Given the description of an element on the screen output the (x, y) to click on. 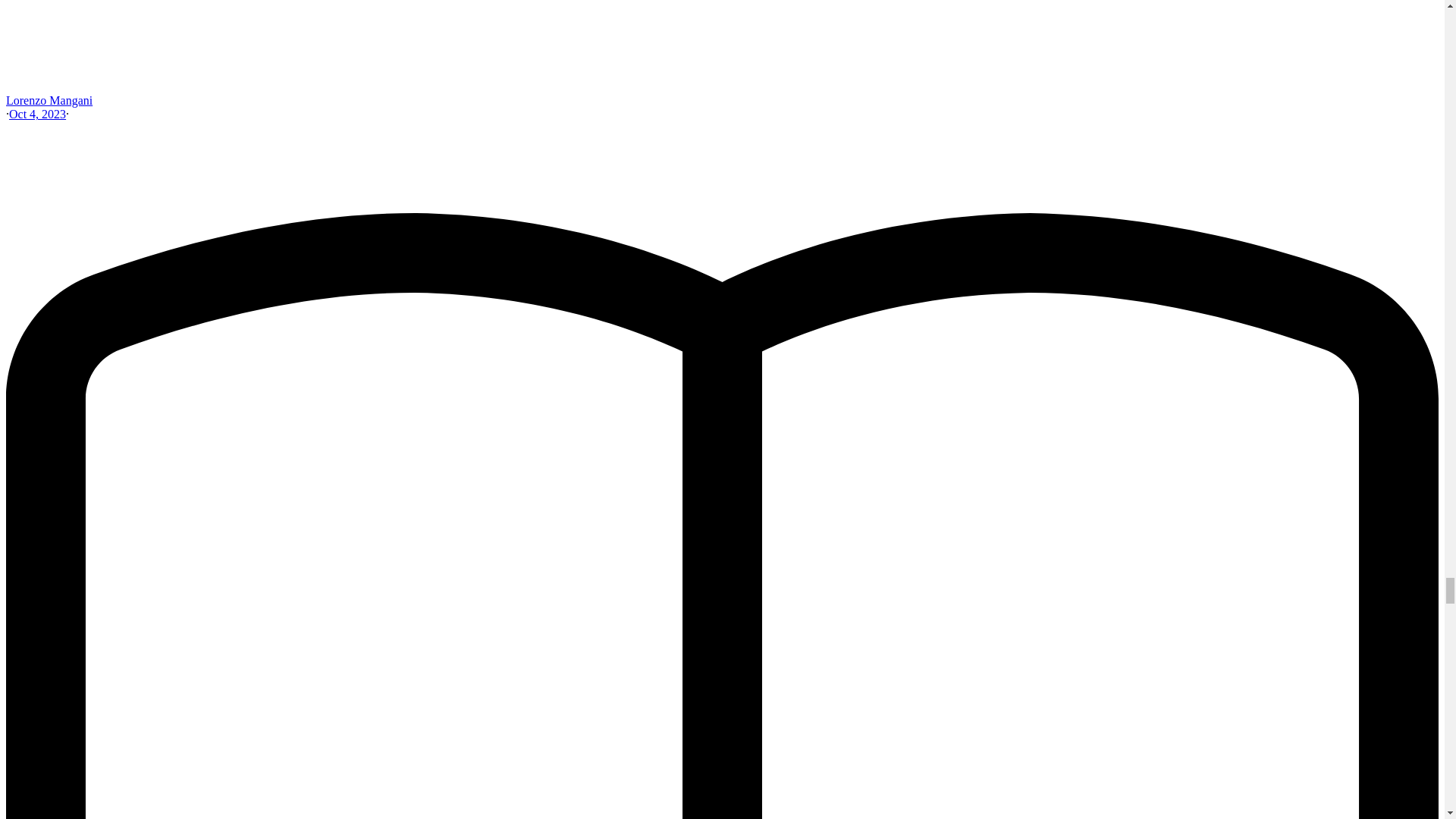
Lorenzo Mangani (49, 100)
Oct 4, 2023 (36, 113)
